Given the description of an element on the screen output the (x, y) to click on. 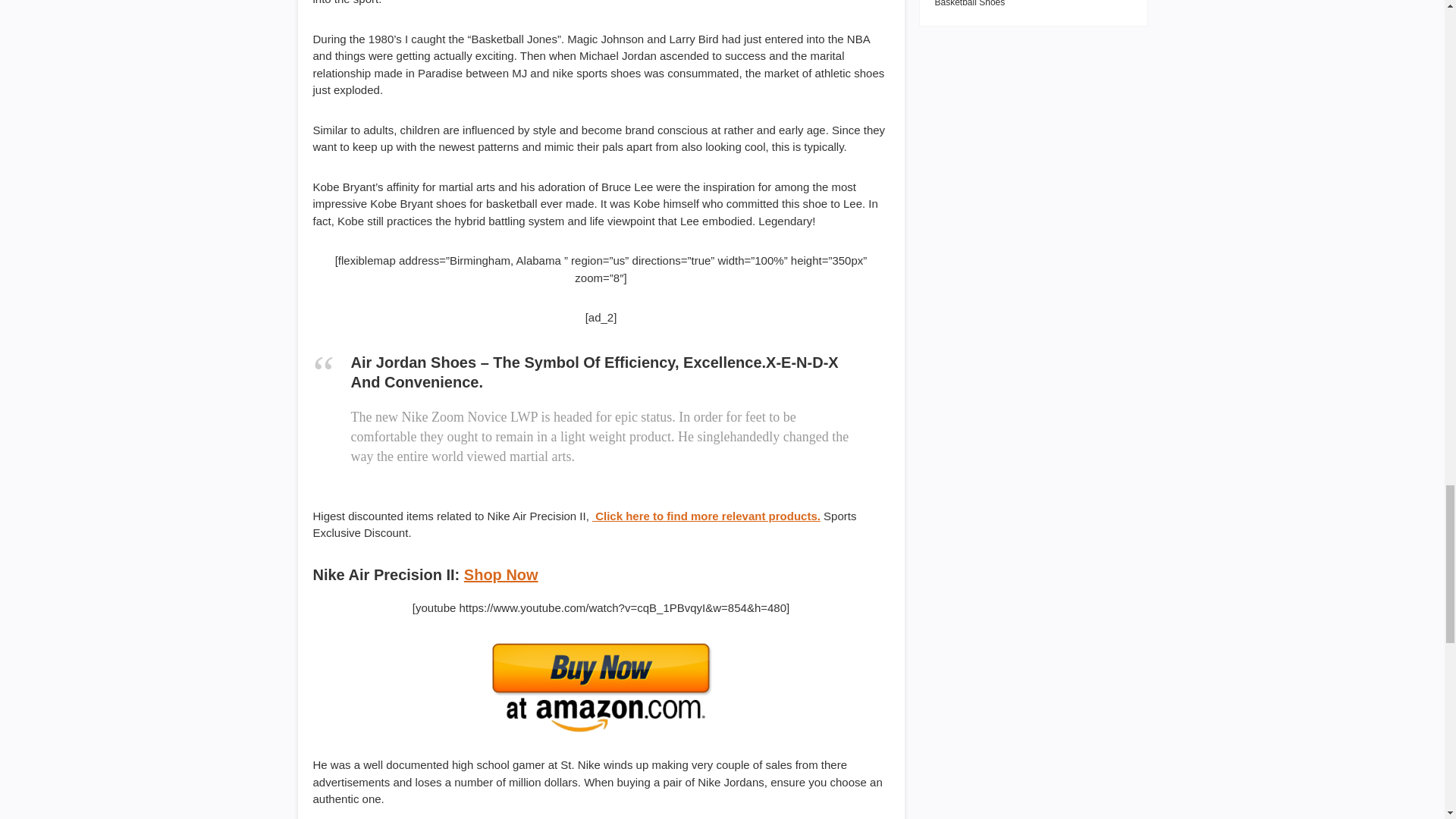
Shop Now (501, 574)
Click here to find more relevant products. (706, 515)
